Given the description of an element on the screen output the (x, y) to click on. 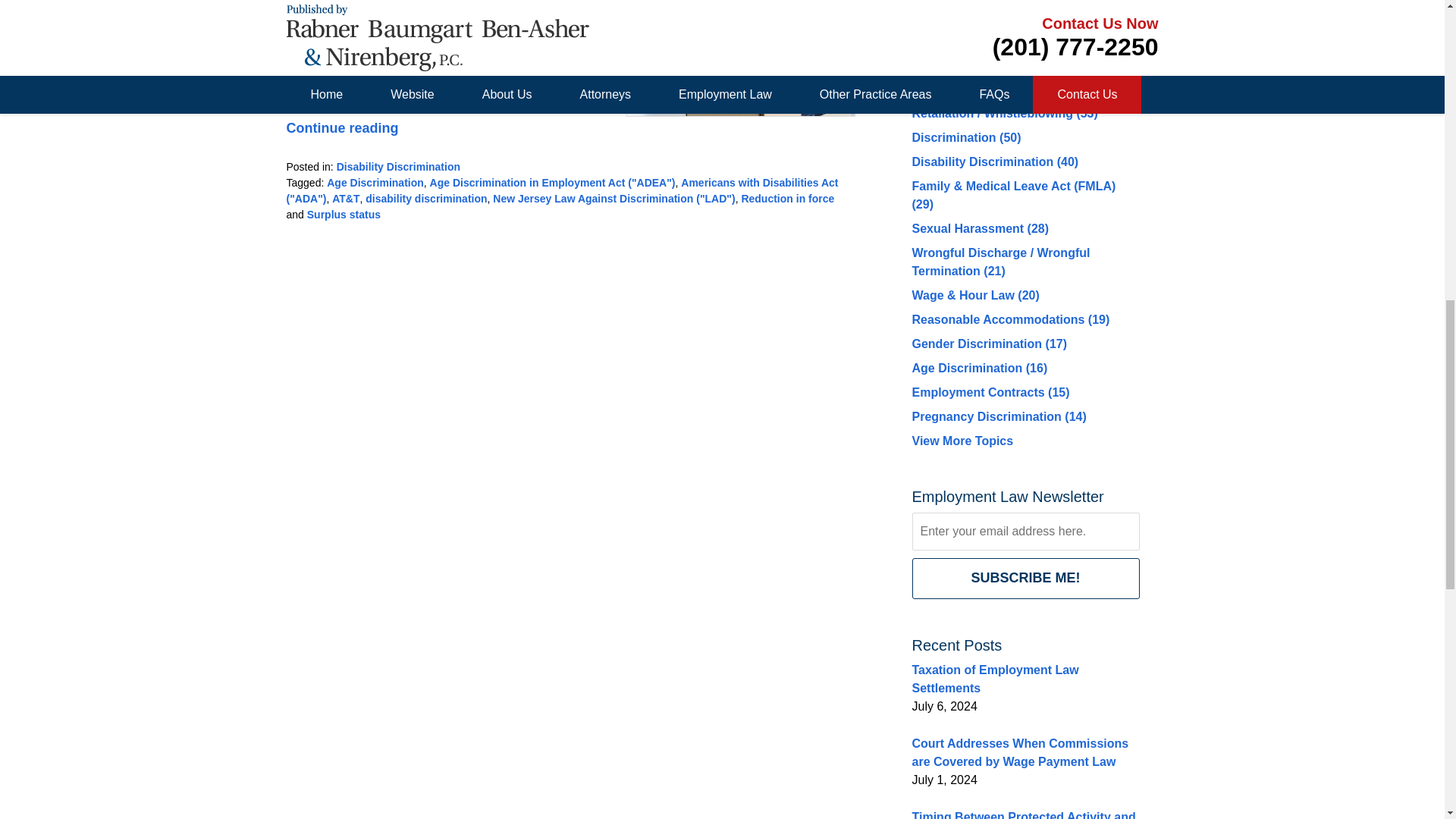
View all posts in Disability Discrimination (398, 166)
View all posts tagged with Reduction in force (787, 198)
View all posts tagged with Age Discrimination (374, 182)
View all posts tagged with Surplus status (343, 214)
View all posts tagged with disability discrimination (425, 198)
